Given the description of an element on the screen output the (x, y) to click on. 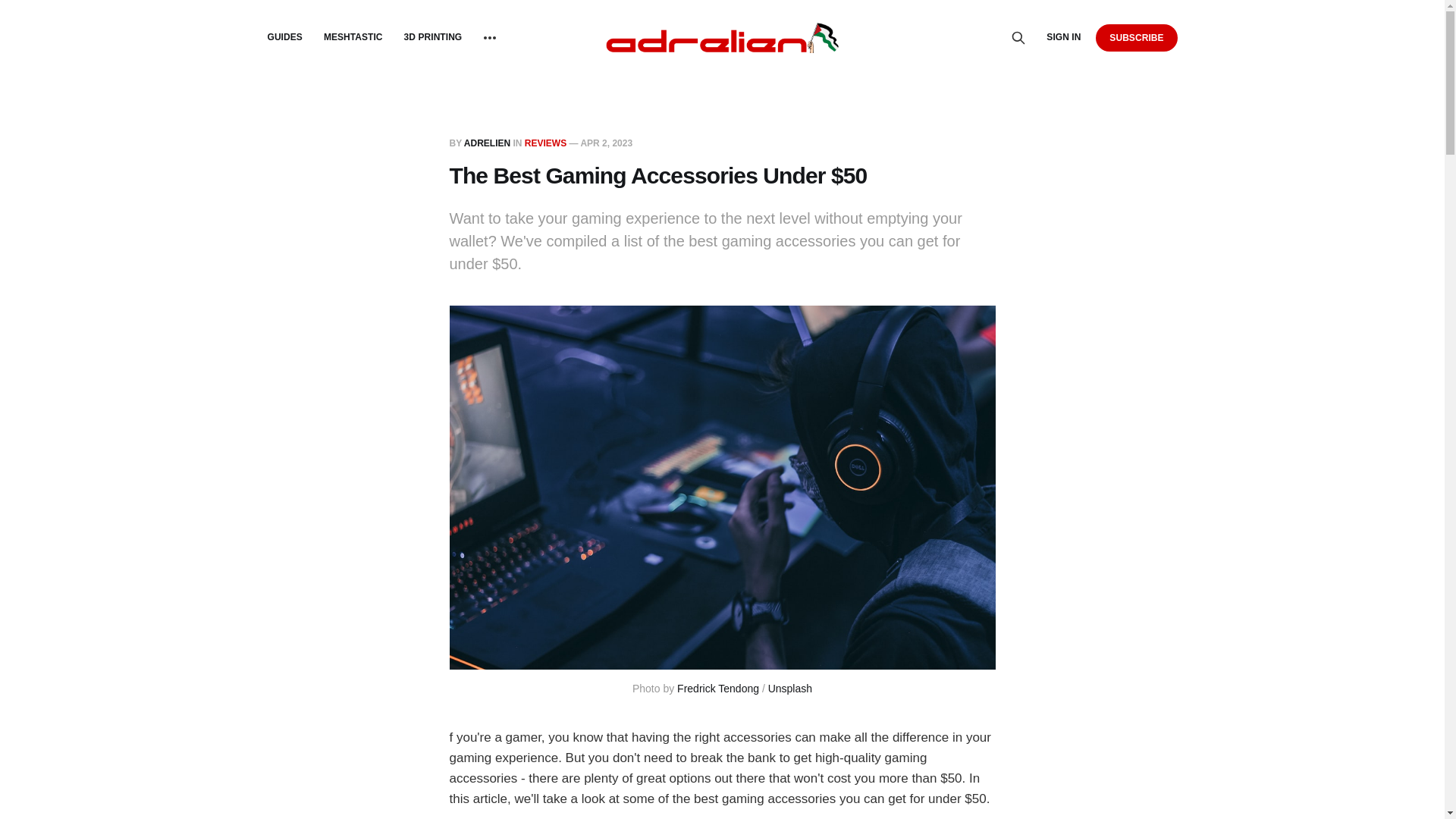
SIGN IN (1063, 37)
Fredrick Tendong (717, 688)
GUIDES (283, 36)
SUBSCRIBE (1136, 37)
MESHTASTIC (352, 36)
ADRELIEN (487, 143)
Unsplash (790, 688)
REVIEWS (545, 143)
3D PRINTING (433, 36)
